Given the description of an element on the screen output the (x, y) to click on. 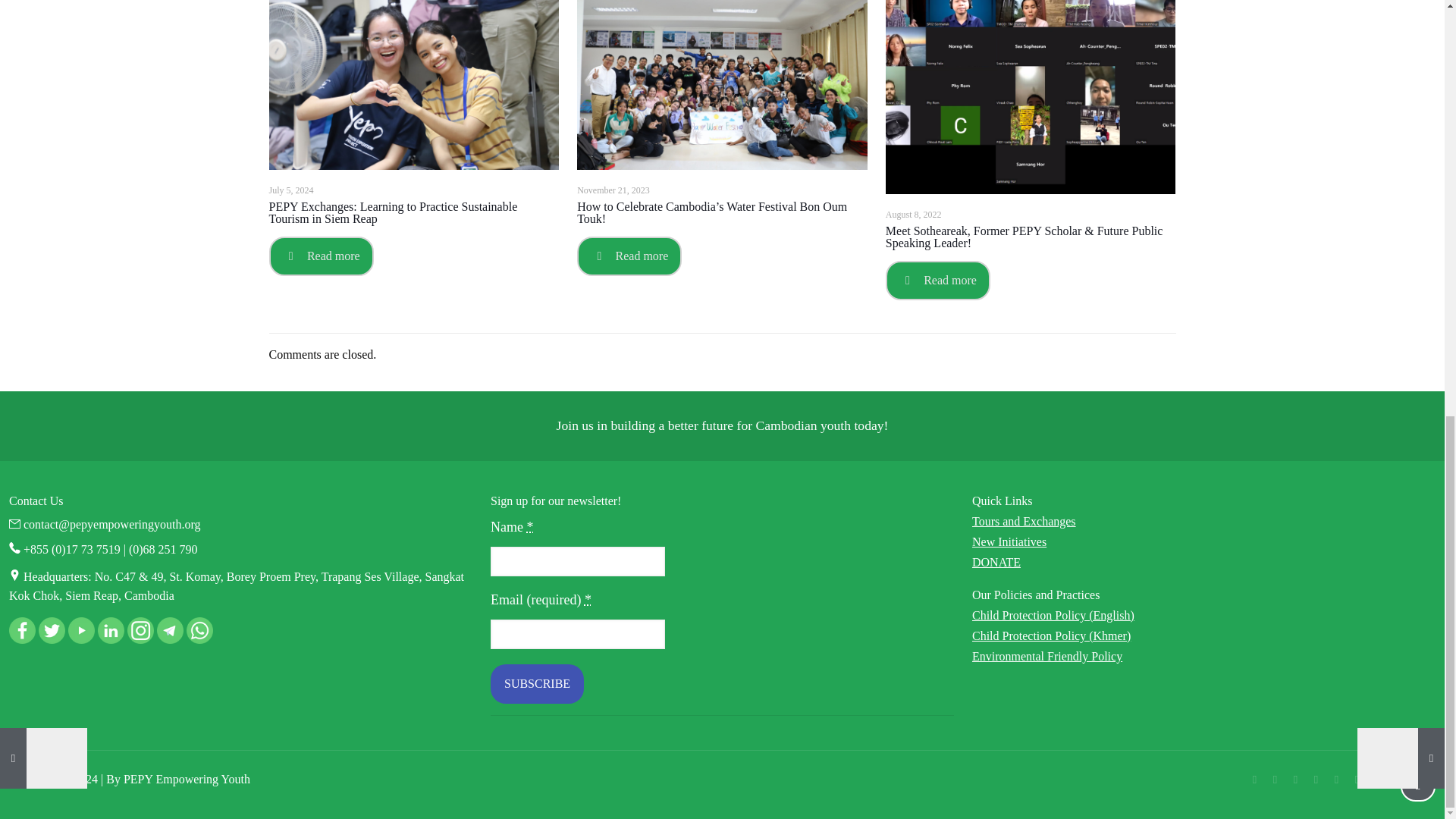
WhatsApp (1254, 779)
Twitter (1295, 779)
Instagram (1357, 779)
Facebook (1274, 779)
SUBSCRIBE (536, 683)
LinkedIn (1335, 779)
YouTube (1315, 779)
